Given the description of an element on the screen output the (x, y) to click on. 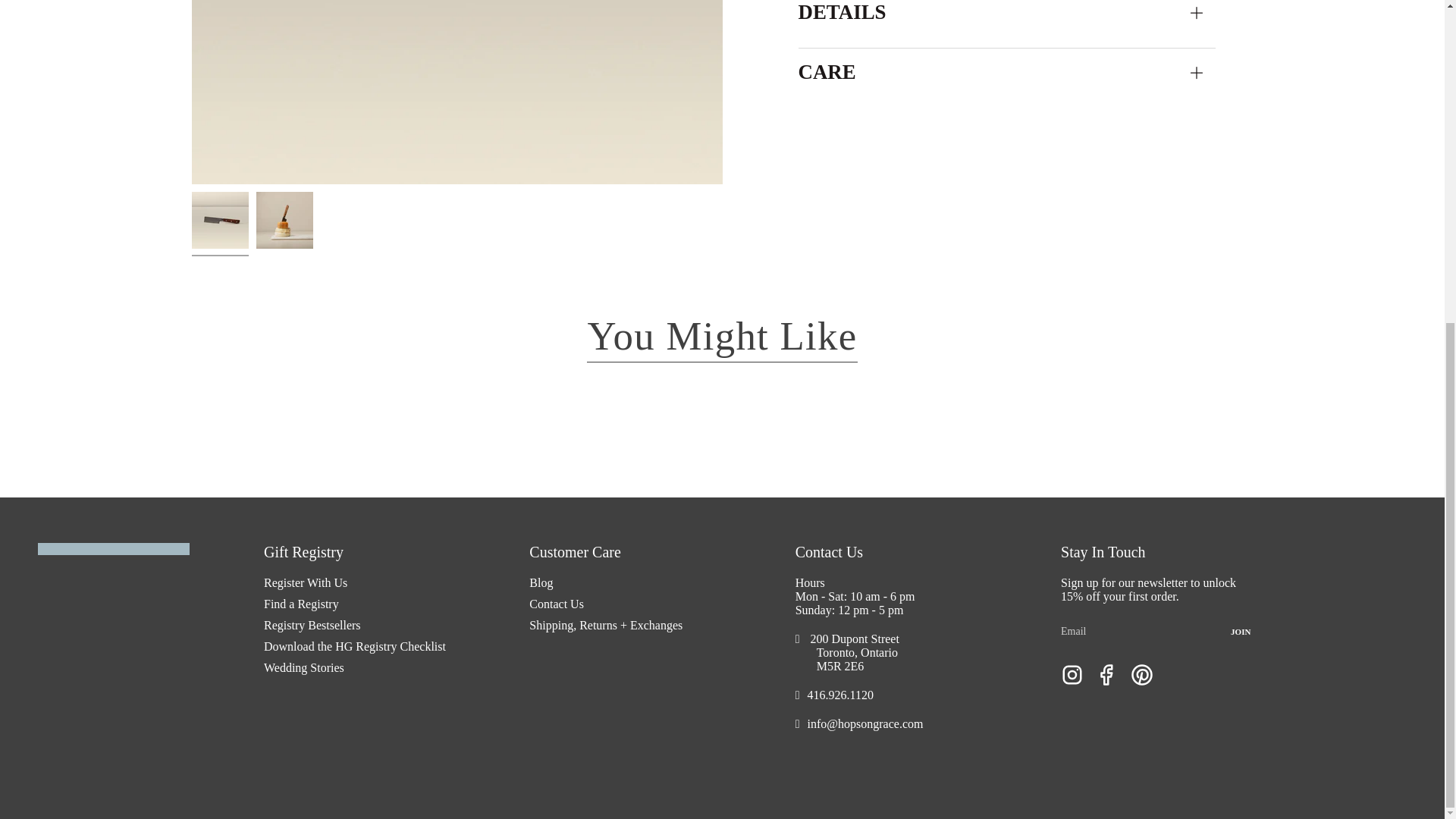
HOPSON GRACE on Pinterest (1142, 673)
HOPSON GRACE on Facebook (1107, 673)
tel:416.926.1120 (840, 696)
HOPSON GRACE on Instagram (1072, 673)
